Given the description of an element on the screen output the (x, y) to click on. 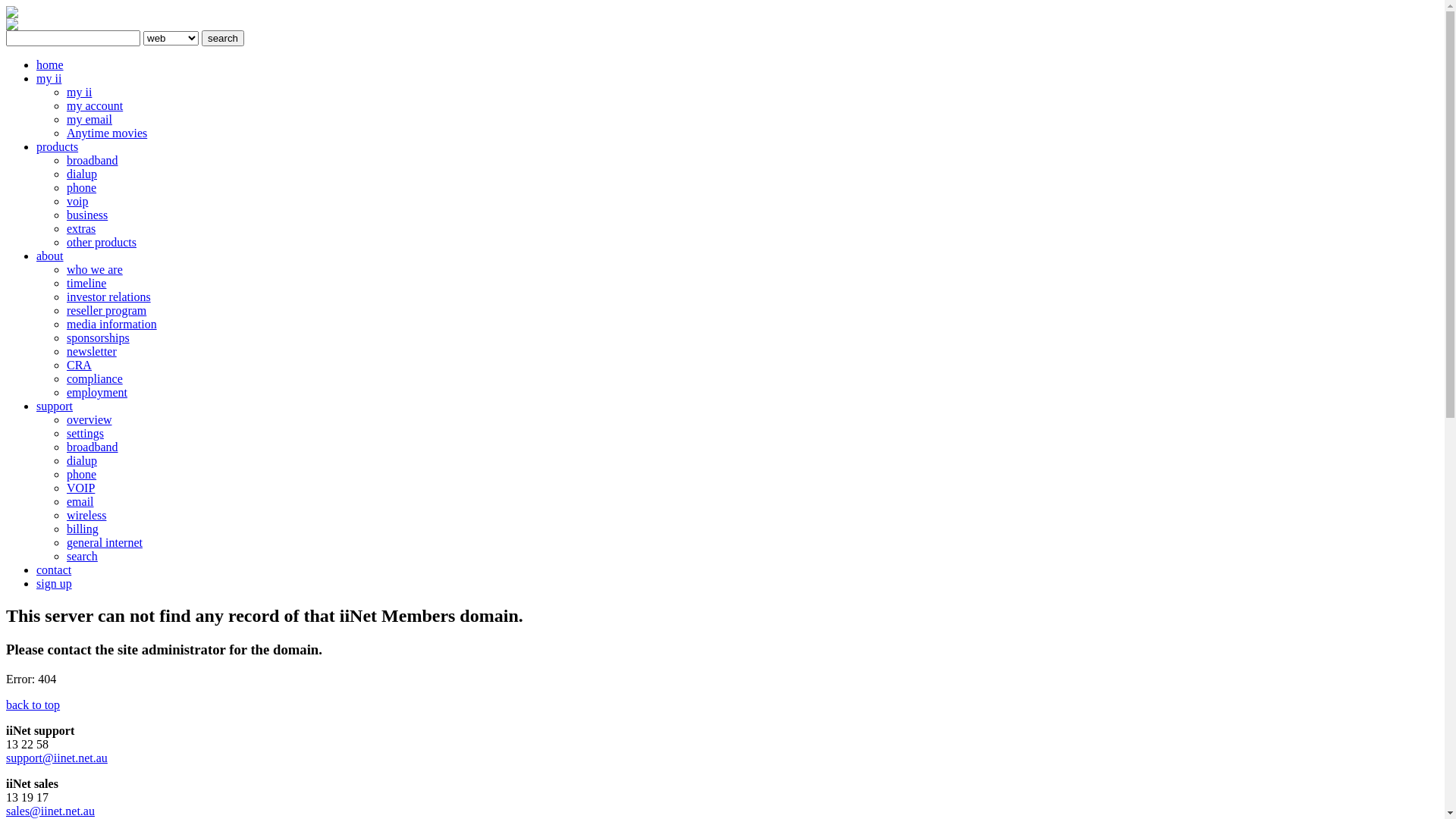
wireless Element type: text (86, 514)
general internet Element type: text (104, 542)
search Element type: text (222, 38)
reseller program Element type: text (106, 310)
about Element type: text (49, 255)
email Element type: text (80, 501)
phone Element type: text (81, 187)
voip Element type: text (76, 200)
media information Element type: text (111, 323)
sign up Element type: text (54, 583)
CRA Element type: text (78, 364)
billing Element type: text (82, 528)
my ii Element type: text (78, 91)
timeline Element type: text (86, 282)
business Element type: text (86, 214)
broadband Element type: text (92, 446)
my email Element type: text (89, 118)
VOIP Element type: text (80, 487)
support@iinet.net.au Element type: text (56, 757)
products Element type: text (57, 146)
sales@iinet.net.au Element type: text (50, 810)
broadband Element type: text (92, 159)
my account Element type: text (94, 105)
settings Element type: text (84, 432)
search Element type: text (81, 555)
home Element type: text (49, 64)
sponsorships Element type: text (97, 337)
who we are Element type: text (94, 269)
newsletter Element type: text (91, 351)
other products Element type: text (101, 241)
investor relations Element type: text (108, 296)
dialup Element type: text (81, 460)
contact Element type: text (53, 569)
phone Element type: text (81, 473)
support Element type: text (54, 405)
compliance Element type: text (94, 378)
dialup Element type: text (81, 173)
overview Element type: text (89, 419)
employment Element type: text (96, 391)
Anytime movies Element type: text (106, 132)
back to top Element type: text (32, 704)
extras Element type: text (80, 228)
my ii Element type: text (48, 78)
